Given the description of an element on the screen output the (x, y) to click on. 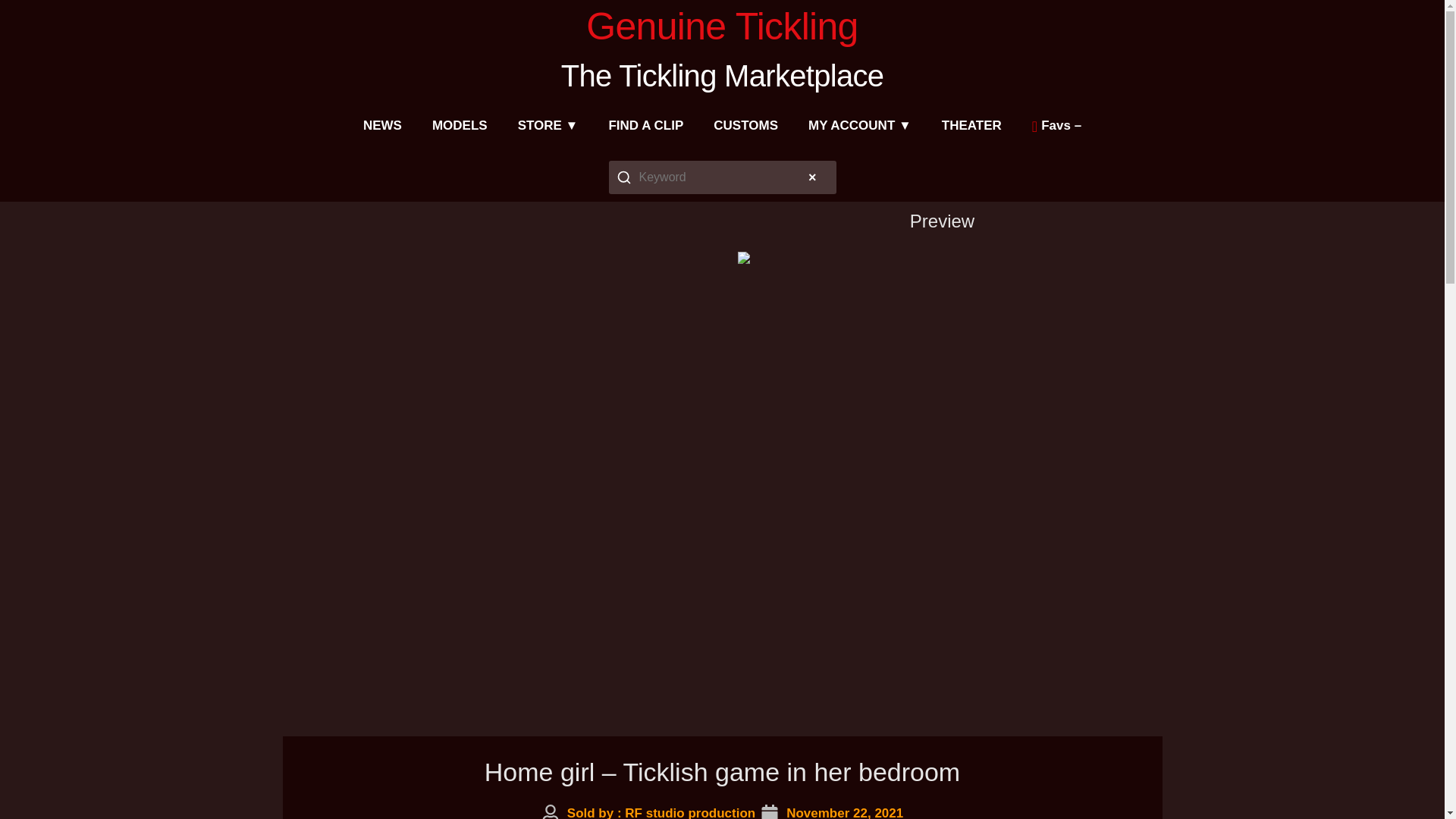
CUSTOMS (745, 125)
NEWS (381, 125)
RF studio production (689, 812)
MODELS (459, 125)
FIND A CLIP (645, 125)
The Tickling Marketplace (721, 75)
THEATER (971, 125)
Genuine Tickling (721, 25)
